Given the description of an element on the screen output the (x, y) to click on. 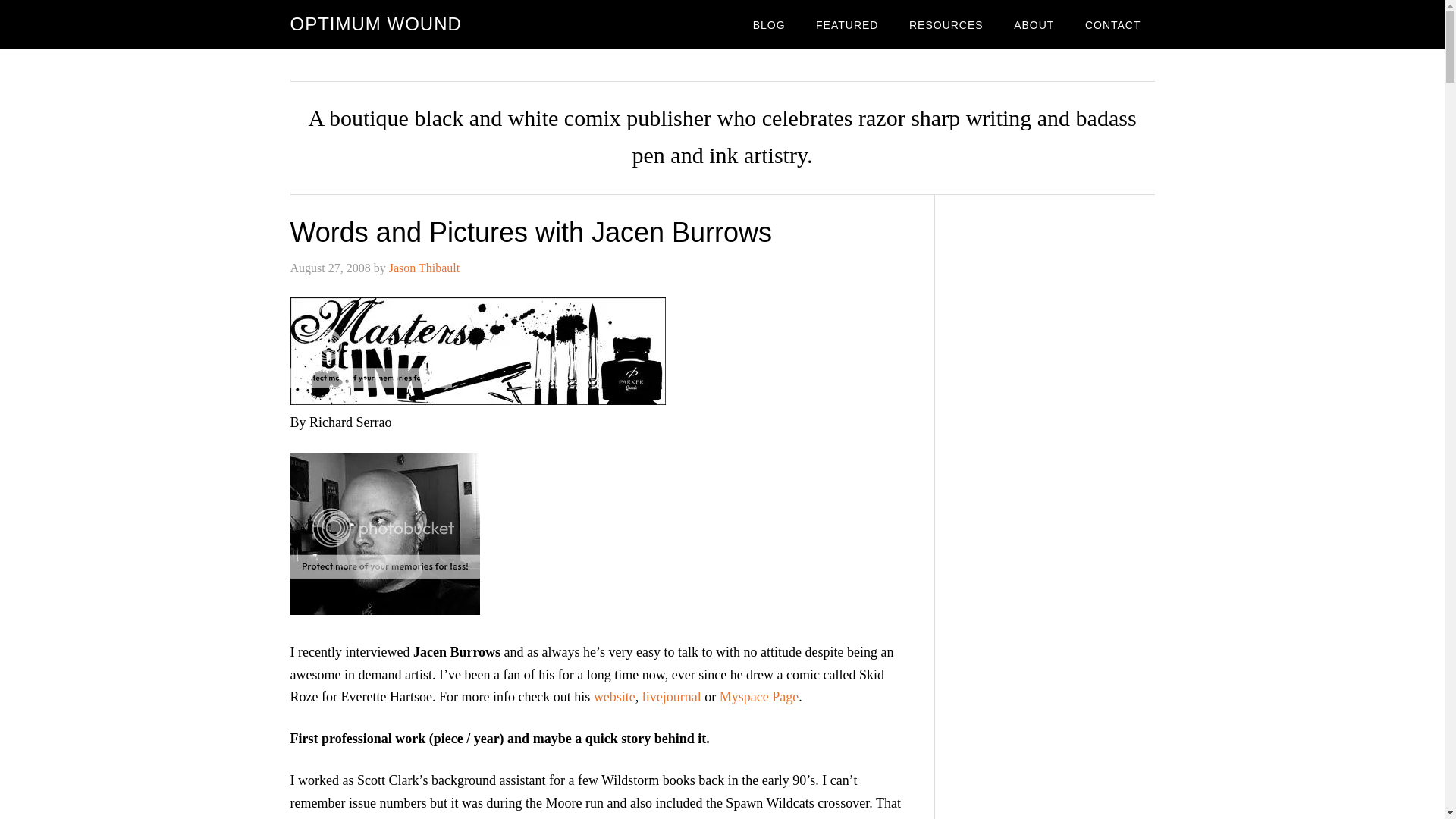
FEATURED (846, 24)
Myspace Page (758, 696)
livejournal (671, 696)
Myspace Page (758, 696)
OPTIMUM WOUND (375, 23)
BLOG (769, 24)
livejournal (671, 696)
CONTACT (1112, 24)
ABOUT (1033, 24)
RESOURCES (946, 24)
website (614, 696)
website (614, 696)
Jason Thibault (424, 267)
